Given the description of an element on the screen output the (x, y) to click on. 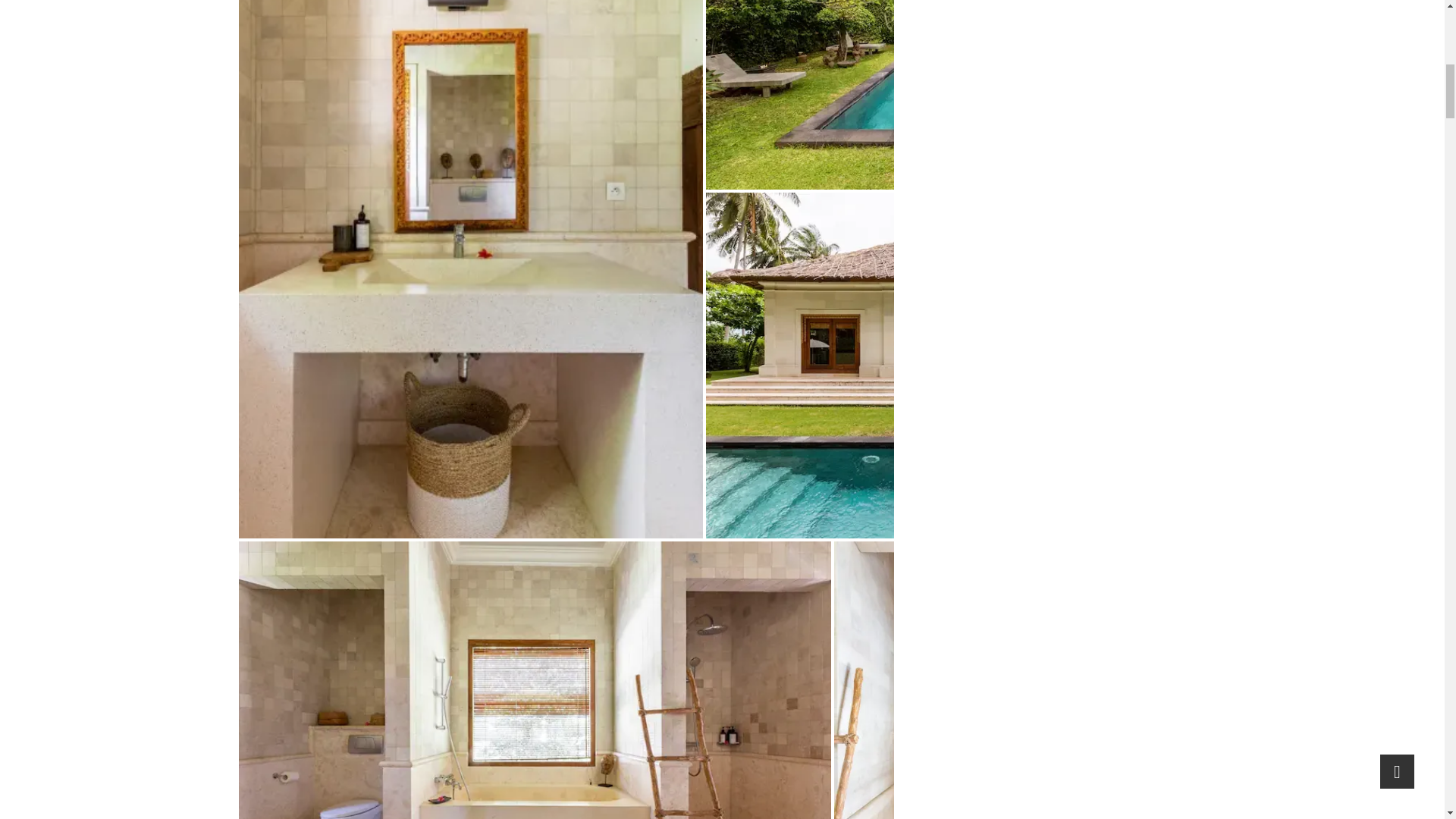
Villa-Salema-1381-4f1f-845e-b24d329a872e (965, 680)
Villa-Salema-0787-4244-b3d0-0717b846a206 (964, 94)
